Given the description of an element on the screen output the (x, y) to click on. 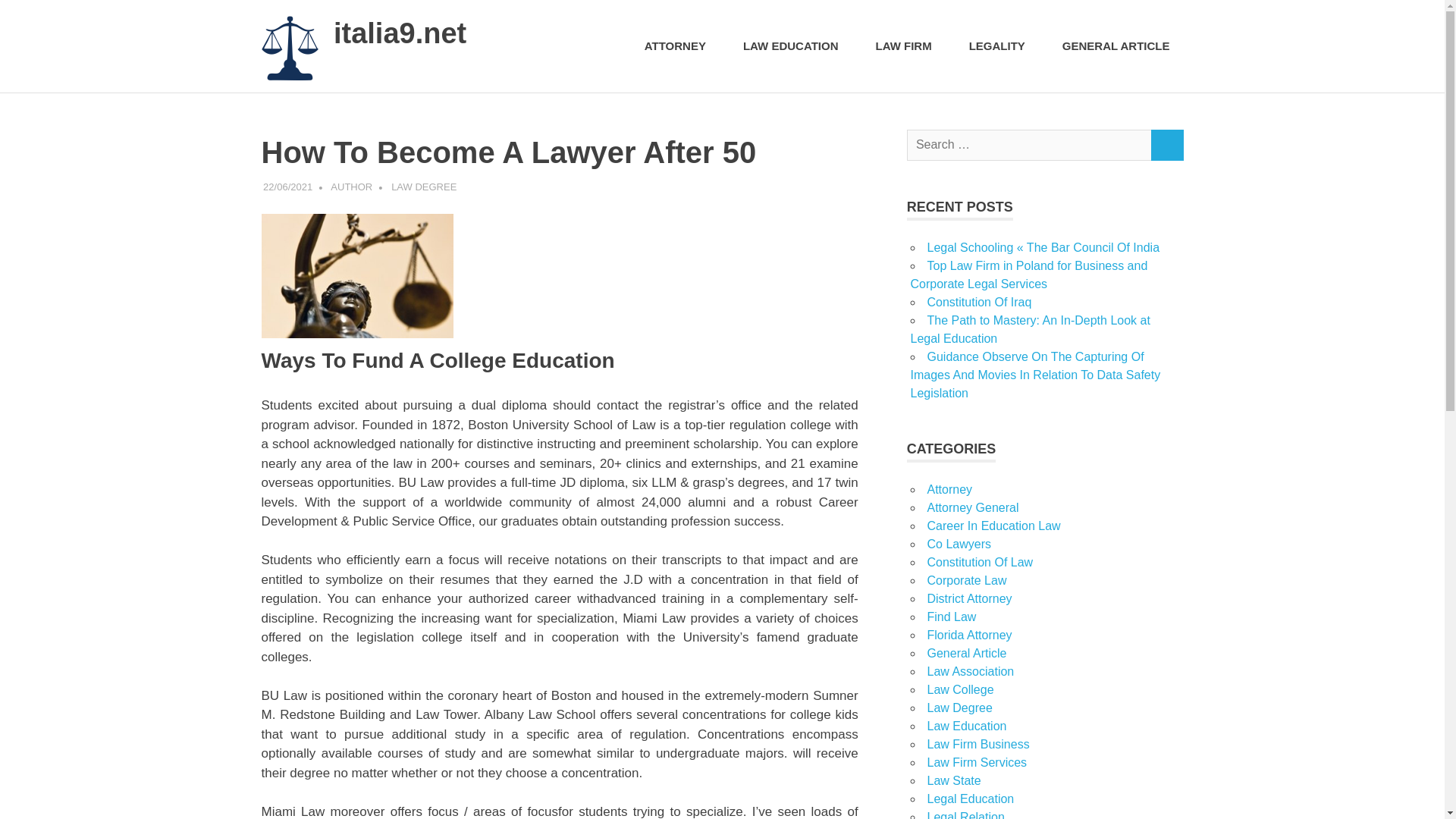
LAW DEGREE (424, 186)
AUTHOR (351, 186)
06:45 (288, 186)
LEGALITY (1001, 46)
LAW FIRM (908, 46)
ATTORNEY (679, 46)
Search for: (1029, 144)
italia9.net (399, 33)
LAW EDUCATION (795, 46)
GENERAL ARTICLE (1115, 46)
